Given the description of an element on the screen output the (x, y) to click on. 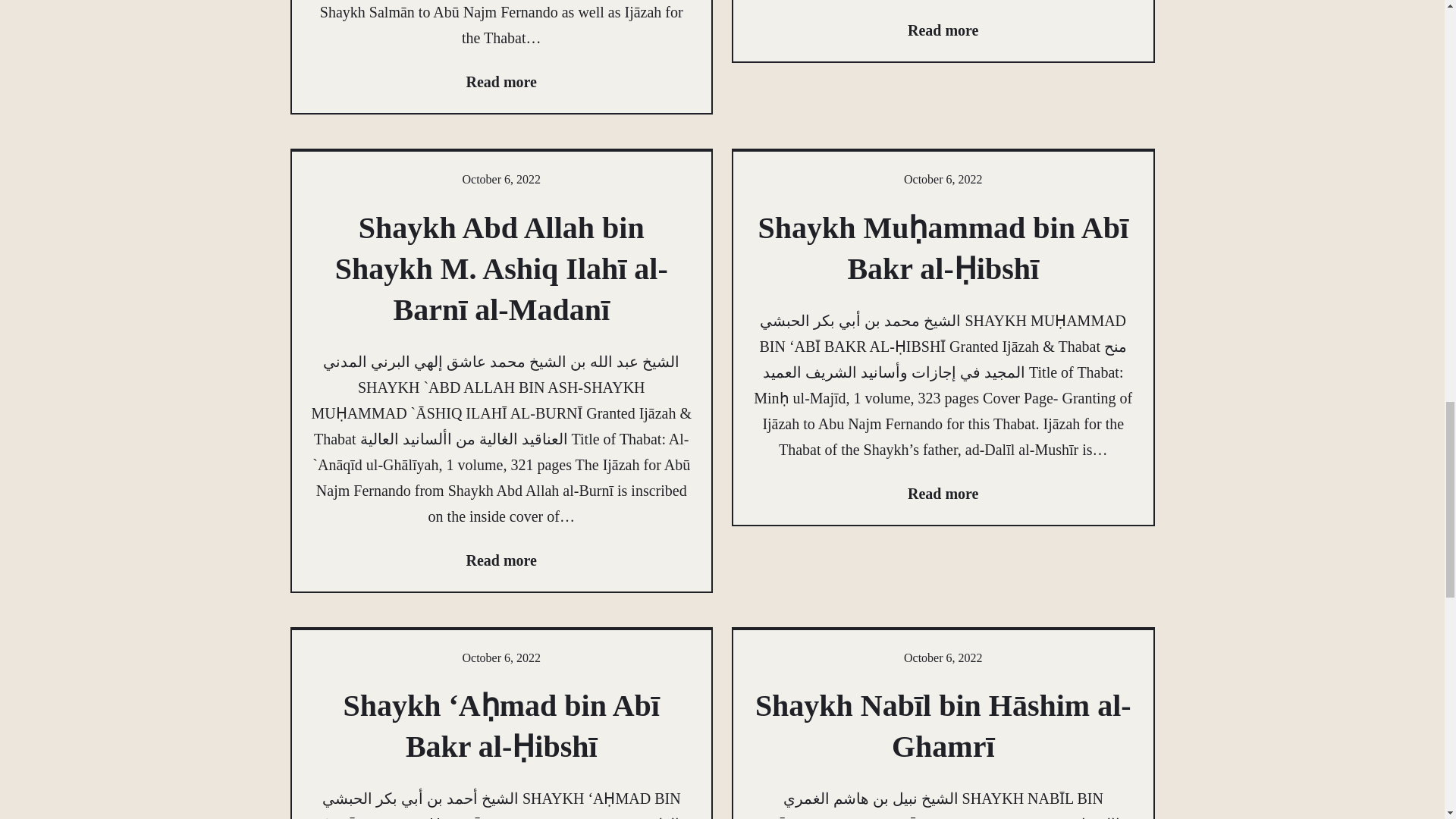
Read more (501, 560)
Read more (942, 493)
Read more (501, 81)
Read more (942, 30)
